Given the description of an element on the screen output the (x, y) to click on. 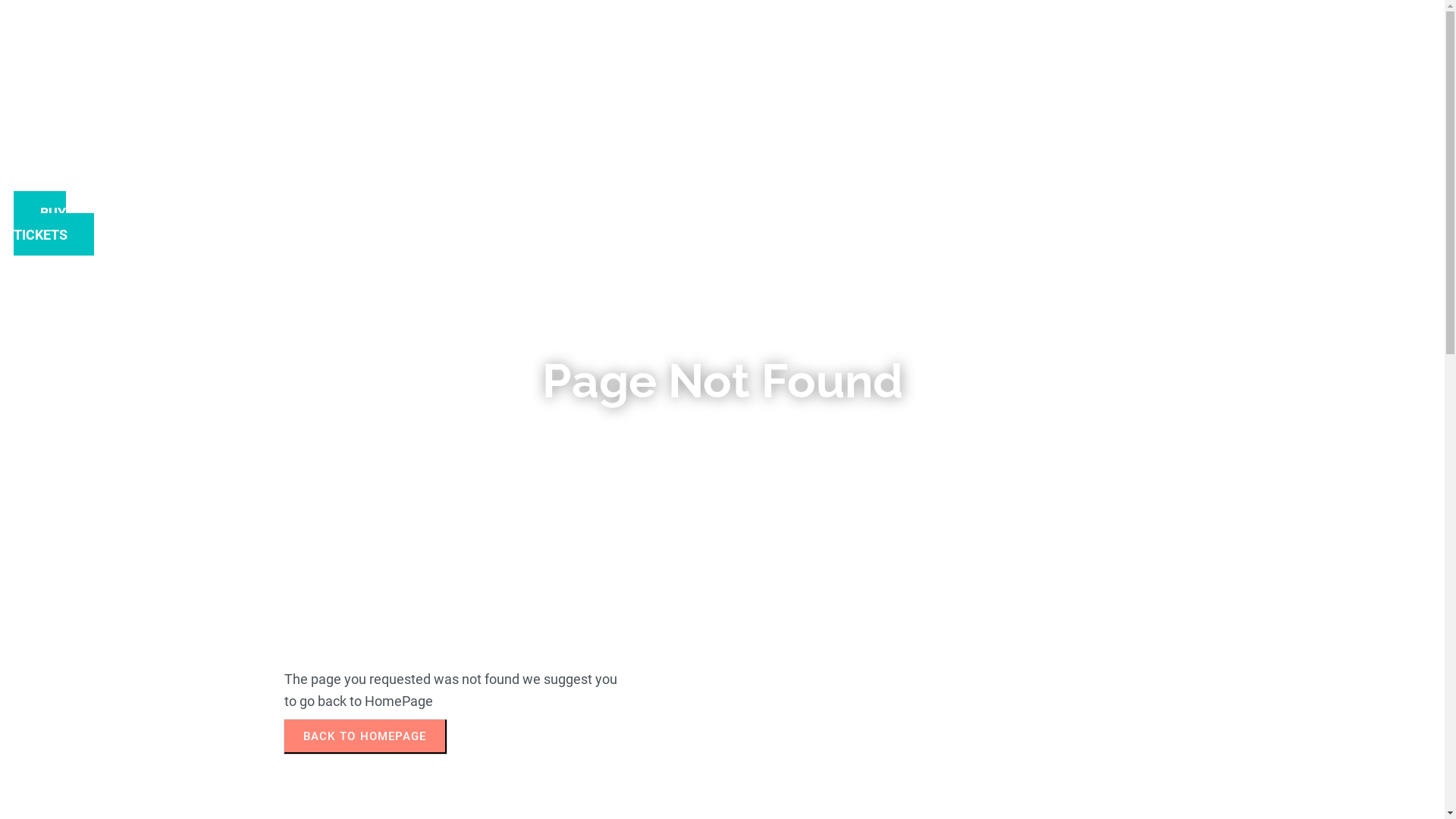
BACK TO HOMEPAGE Element type: text (363, 735)
REGISTRATION Element type: text (592, 164)
HOME Element type: text (618, 126)
BUY TICKETS Element type: text (53, 223)
Home Element type: text (671, 428)
CONTACT US Element type: text (598, 145)
